Given the description of an element on the screen output the (x, y) to click on. 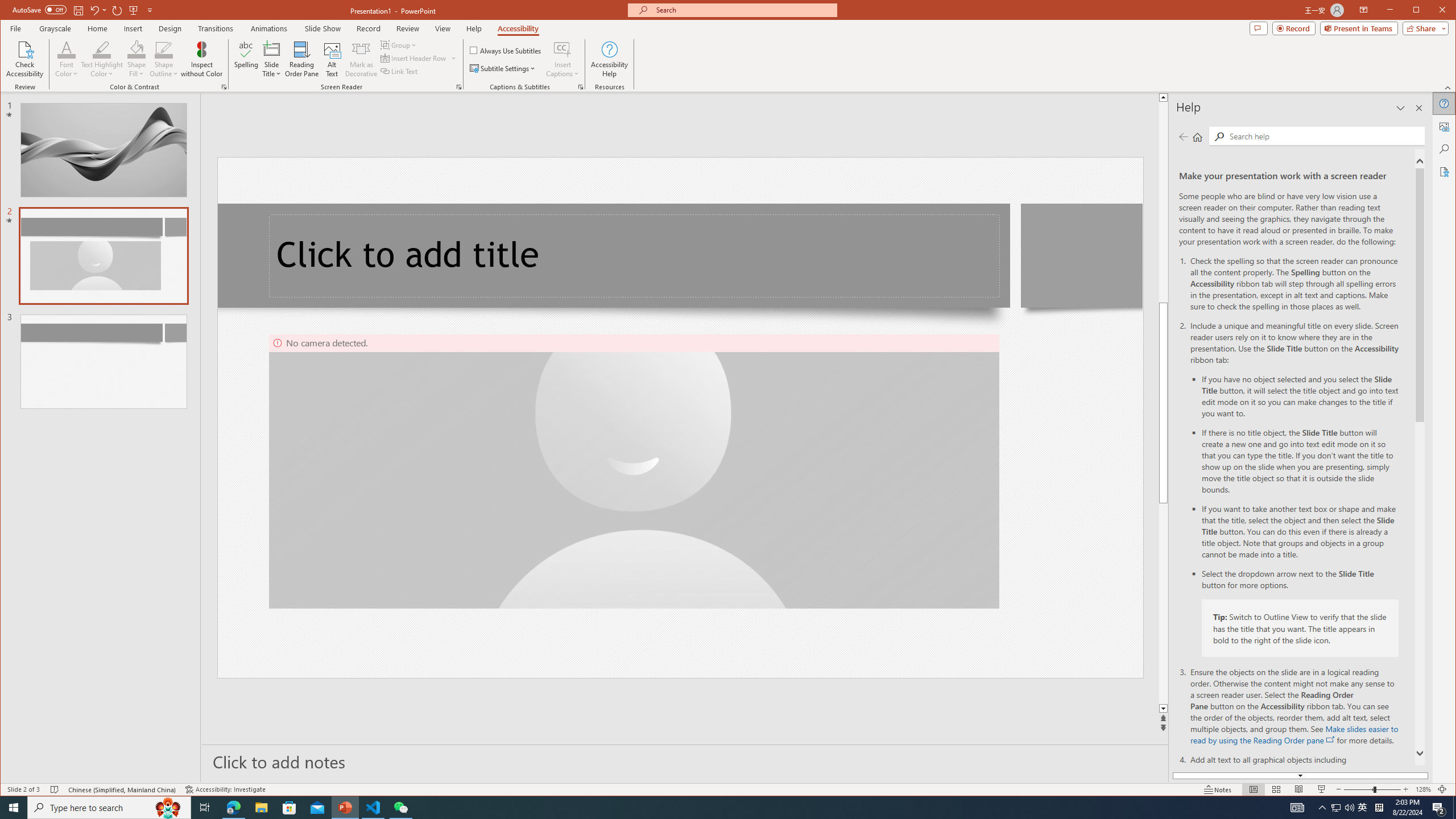
Spelling... (246, 59)
Alt Text (1444, 125)
Alt Text (331, 59)
Insert Header Row (413, 57)
Shape Fill Orange, Accent 2 (136, 48)
